Given the description of an element on the screen output the (x, y) to click on. 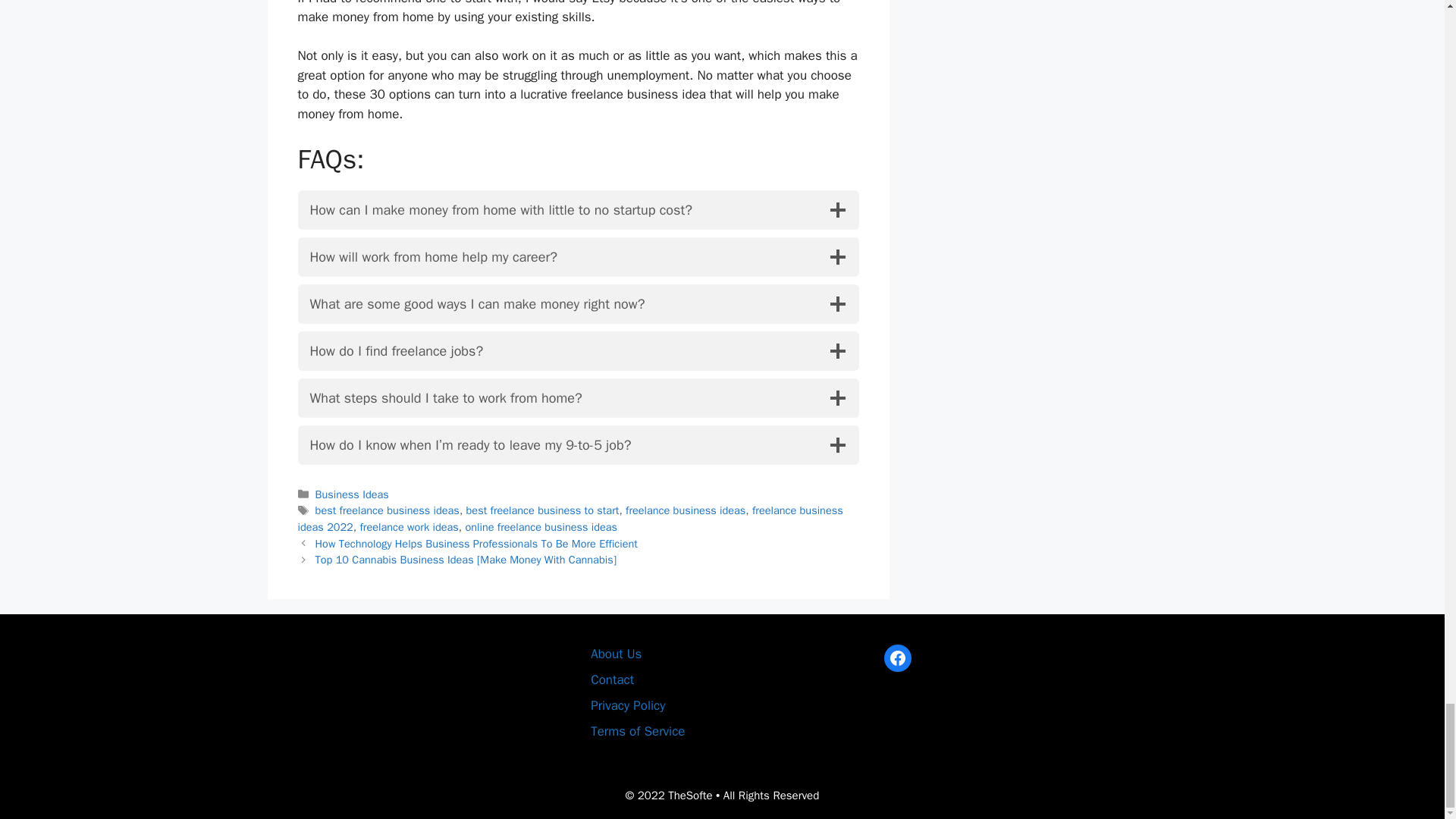
online freelance business ideas (540, 526)
best freelance business ideas (387, 509)
What steps should I take to work from home? (578, 397)
freelance business ideas (685, 509)
best freelance business to start (542, 509)
Business Ideas (351, 494)
freelance work ideas (408, 526)
How do I find freelance jobs? (578, 351)
